Given the description of an element on the screen output the (x, y) to click on. 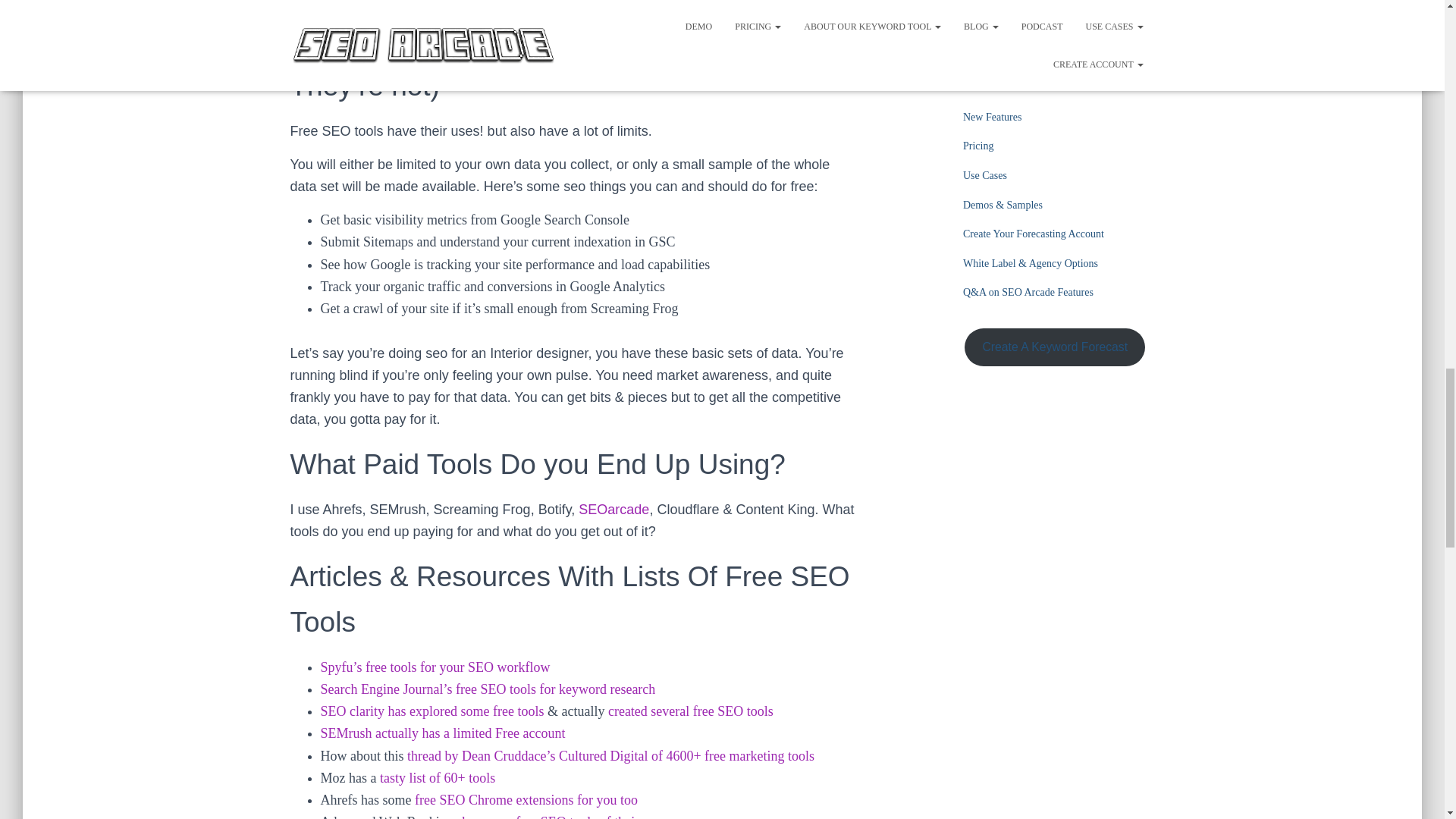
SEMrush actually has a limited Free account (442, 733)
SEO clarity has explored some free tools (431, 711)
created several free SEO tools (690, 711)
has some free SEO tools of their own (563, 816)
SEOarcade (613, 509)
free SEO Chrome extensions for you too (525, 799)
